Given the description of an element on the screen output the (x, y) to click on. 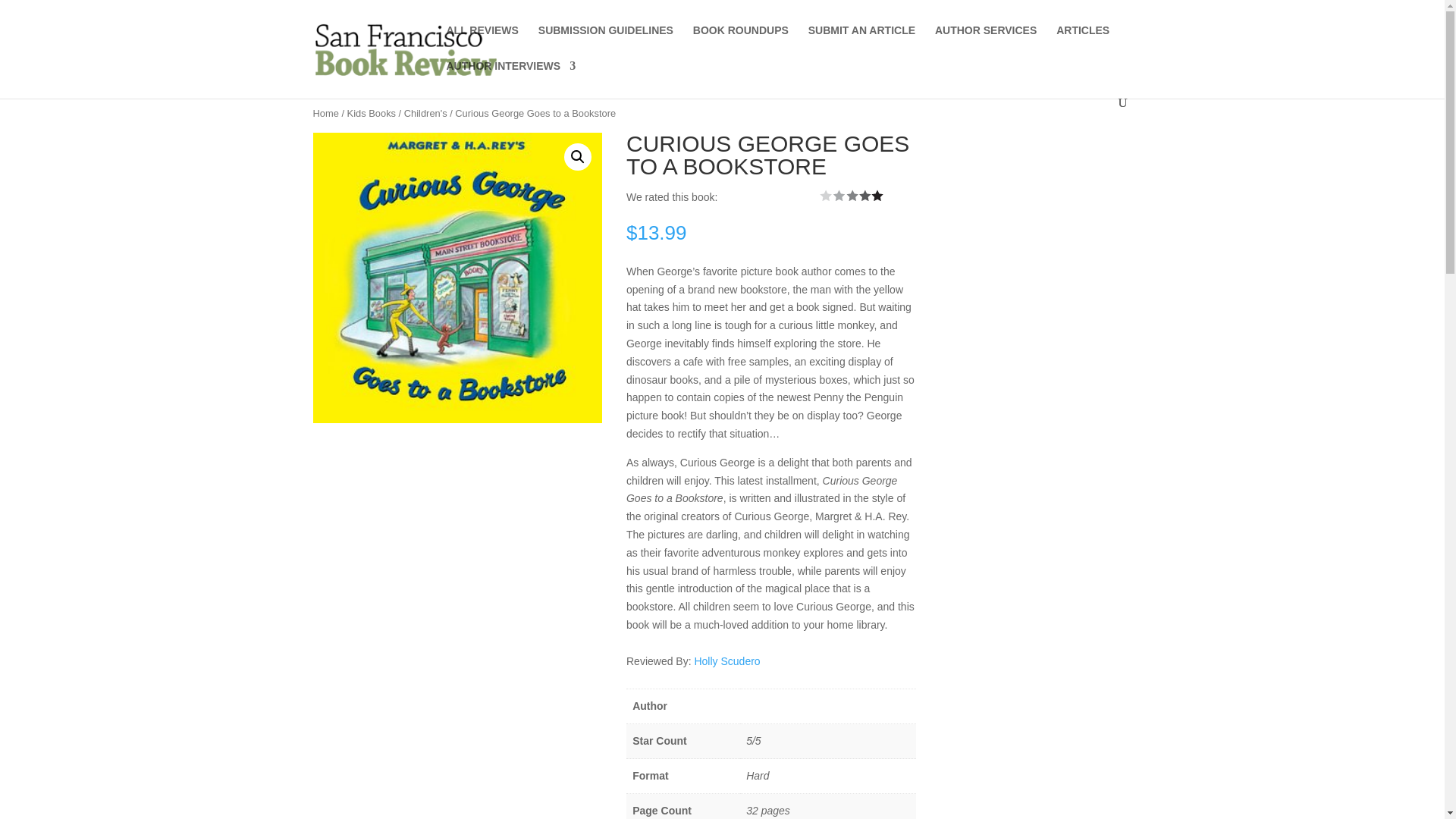
BOOK ROUNDUPS (741, 42)
Home (325, 112)
AUTHOR SERVICES (985, 42)
SUBMISSION GUIDELINES (605, 42)
ARTICLES (1083, 42)
AUTHOR INTERVIEWS (510, 78)
Holly Scudero (727, 661)
Kids Books (371, 112)
ALL REVIEWS (481, 42)
Children's (425, 112)
SUBMIT AN ARTICLE (861, 42)
